Given the description of an element on the screen output the (x, y) to click on. 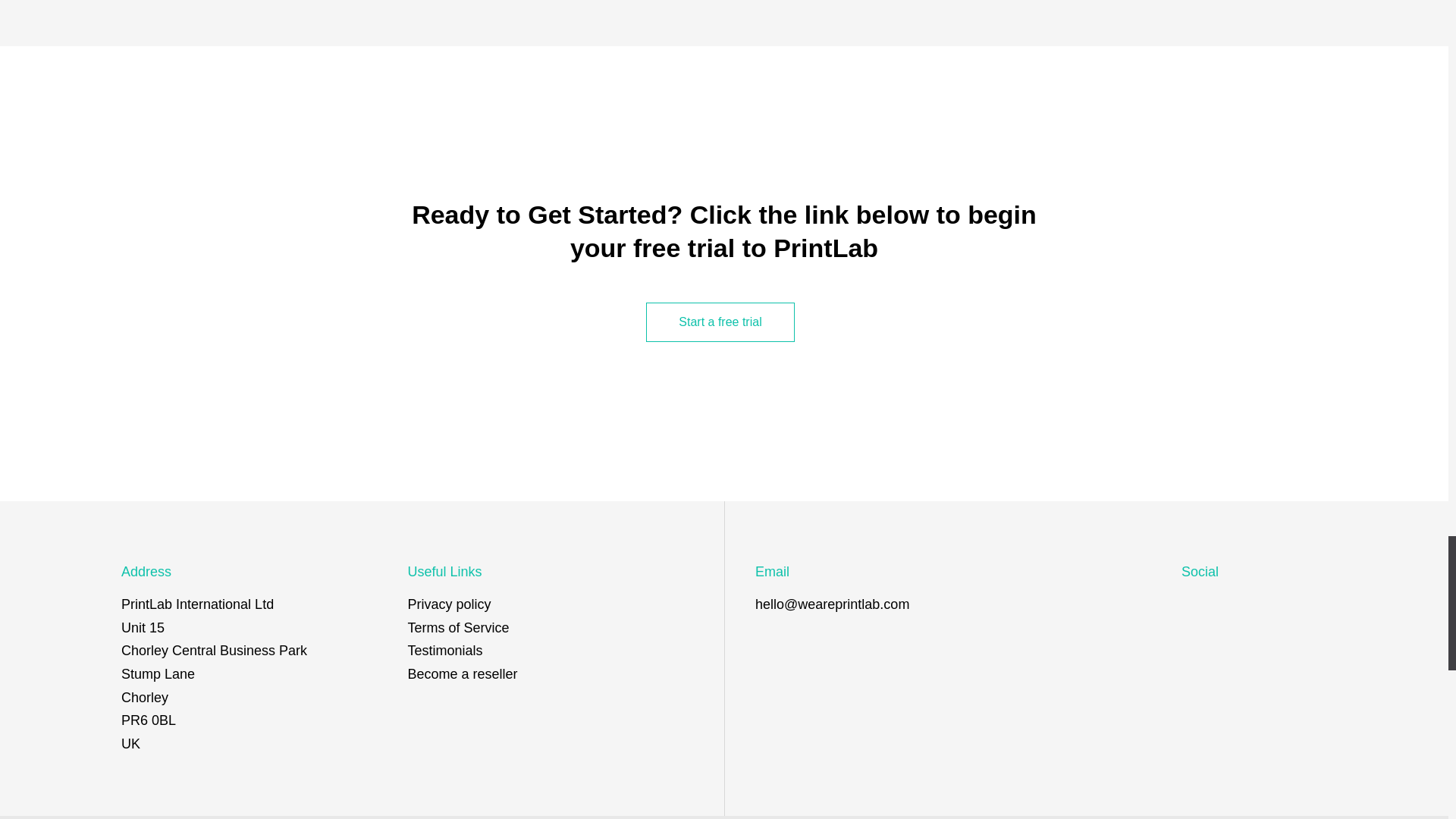
Facebook (1264, 603)
Youtube (1301, 603)
Instagram (1228, 603)
Twitter (1192, 603)
Privacy policy (449, 604)
Start a free trial (719, 322)
Terms of Service (458, 627)
Become a reseller (462, 673)
Testimonials (445, 650)
